Given the description of an element on the screen output the (x, y) to click on. 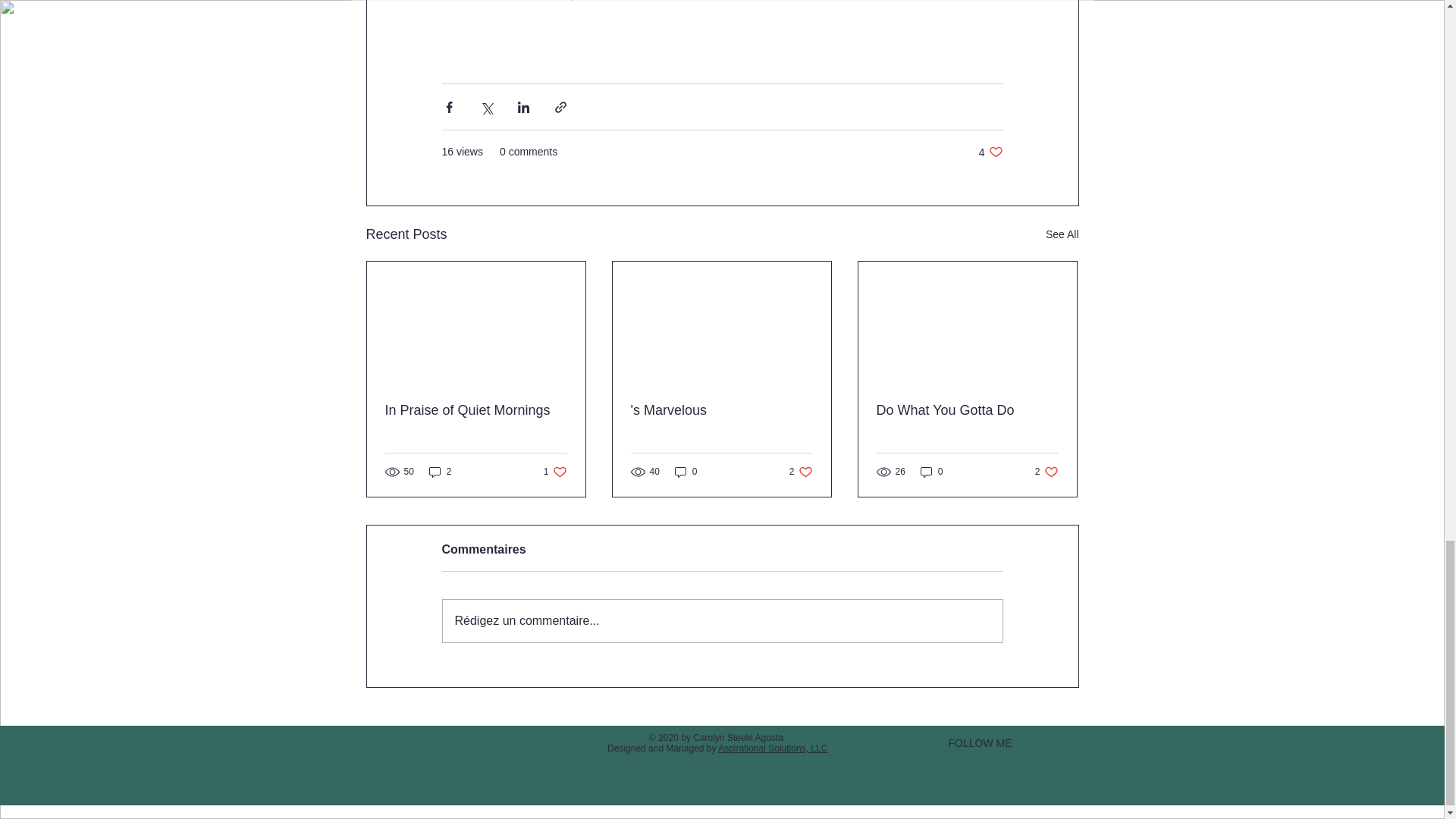
0 (685, 471)
See All (1046, 471)
In Praise of Quiet Mornings (1061, 234)
2 (990, 151)
's Marvelous (555, 471)
Do What You Gotta Do (476, 410)
0 (440, 471)
Aspirational Solutions, LLC (800, 471)
